Given the description of an element on the screen output the (x, y) to click on. 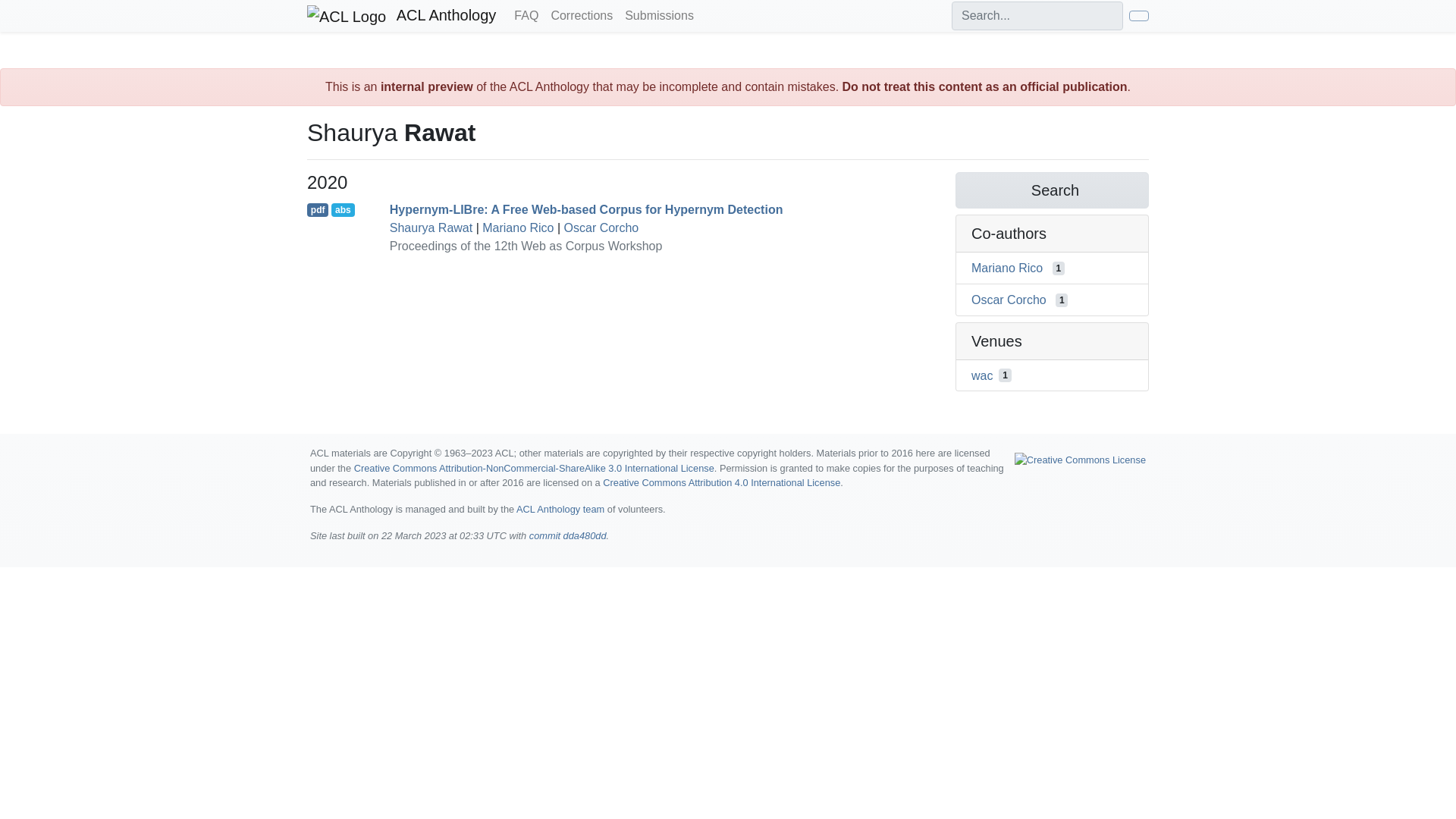
Proceedings of the 12th Web as Corpus Workshop (526, 245)
commit dda480dd (568, 535)
Oscar Corcho (601, 227)
Creative Commons Attribution 4.0 International License (721, 482)
pdf (318, 210)
Shaurya Rawat (430, 227)
wac (981, 374)
ACL Anthology team (560, 509)
Search for 'Shaurya Rawat' on Semantic Scholar (1051, 189)
